Given the description of an element on the screen output the (x, y) to click on. 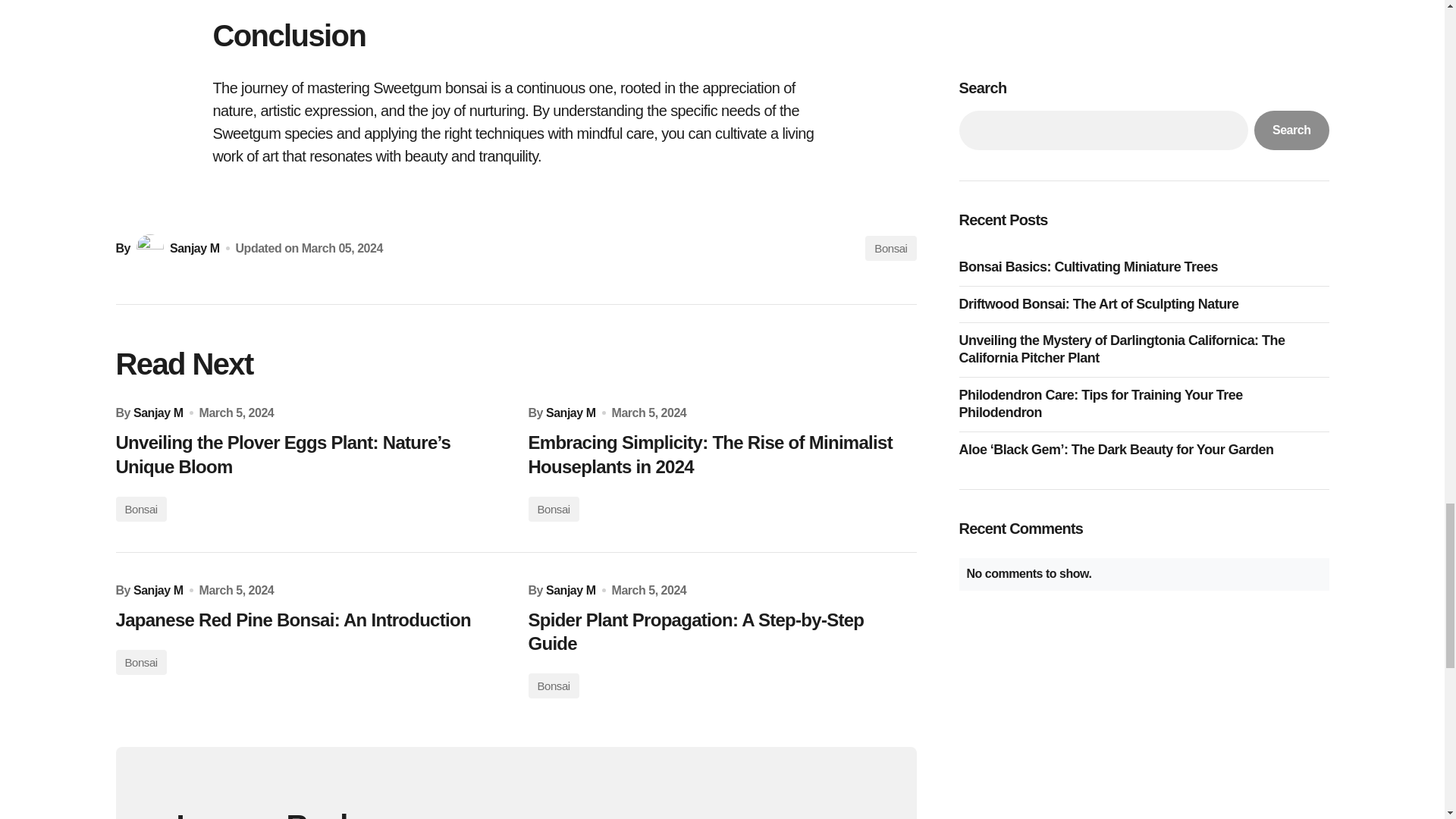
Sanjay M (570, 590)
Sanjay M (570, 412)
Spider Plant Propagation: A Step-by-Step Guide (721, 631)
Bonsai (889, 248)
Bonsai (552, 508)
Japanese Red Pine Bonsai: An Introduction (309, 619)
Sanjay M (158, 590)
Bonsai (140, 662)
Sanjay M (176, 247)
Sanjay M (158, 412)
Bonsai (552, 685)
Bonsai (140, 508)
